Given the description of an element on the screen output the (x, y) to click on. 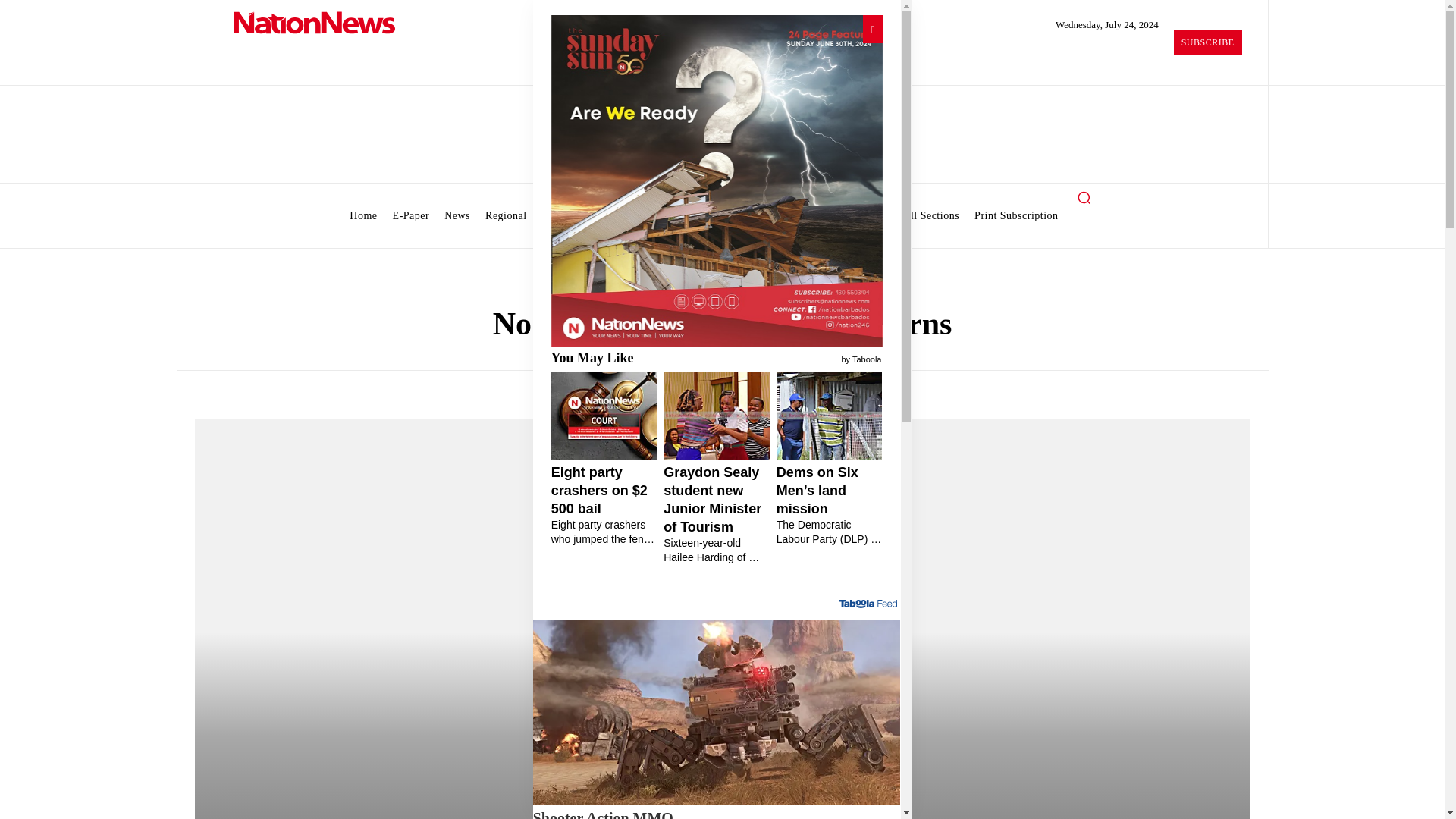
Graydon Sealy student new Junior Minister of Tourism (716, 514)
Shooter Action MMO (716, 813)
by Taboola (860, 357)
HURICANE Social-01 (716, 180)
